Given the description of an element on the screen output the (x, y) to click on. 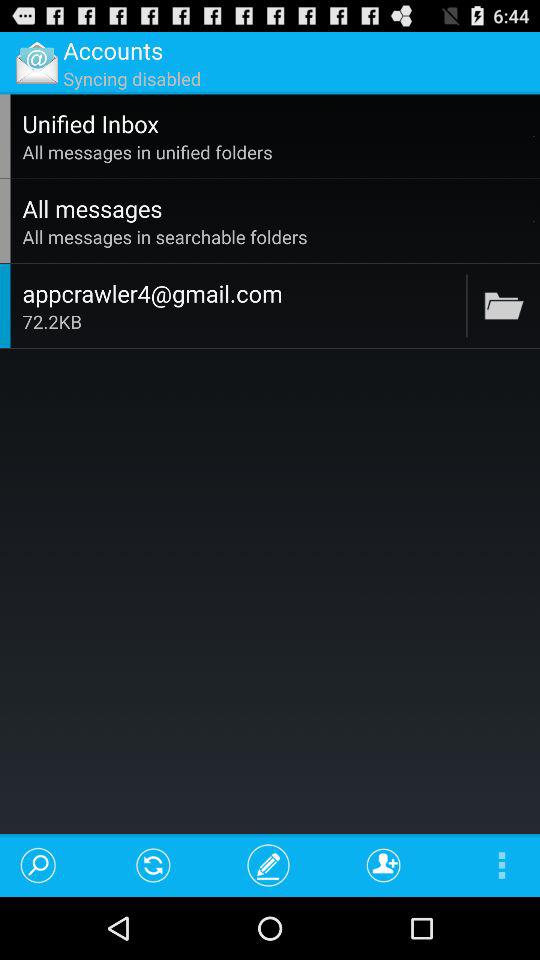
open app next to the appcrawler4@gmail.com item (466, 305)
